Given the description of an element on the screen output the (x, y) to click on. 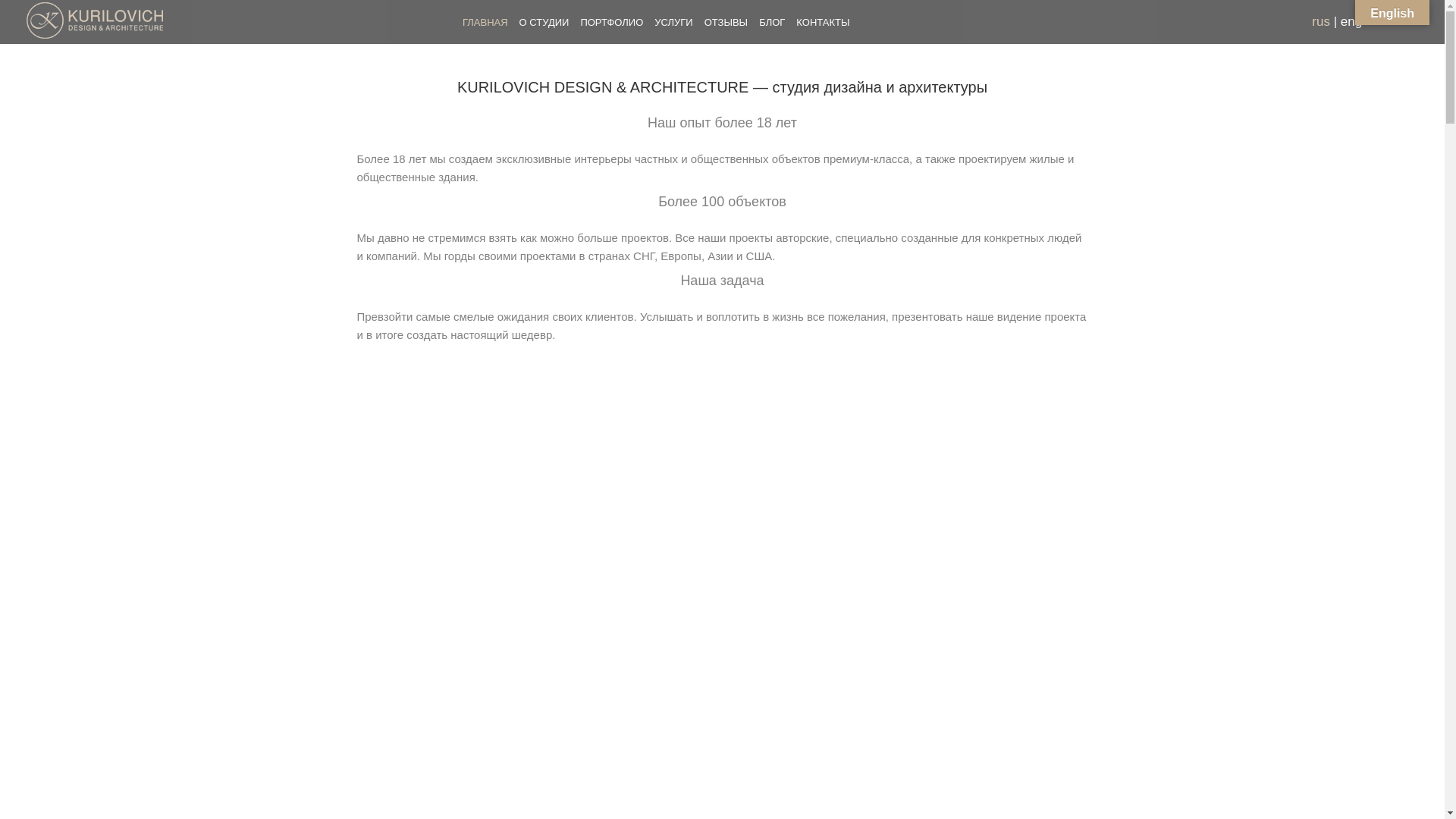
eng Element type: text (1350, 21)
rus Element type: text (1320, 21)
